Given the description of an element on the screen output the (x, y) to click on. 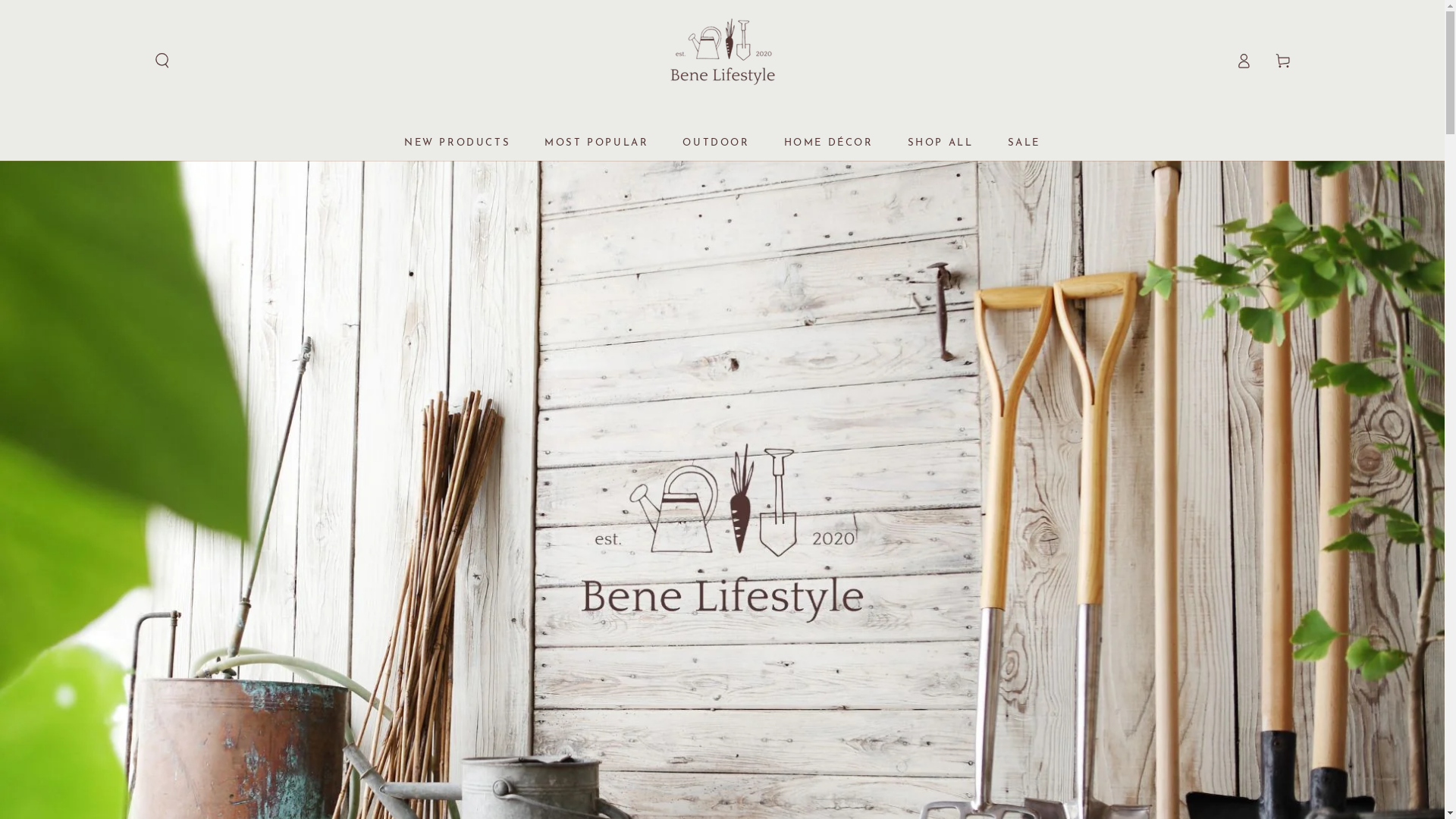
MOST POPULAR Element type: text (596, 142)
NEW PRODUCTS Element type: text (456, 142)
SALE Element type: text (1023, 142)
OUTDOOR Element type: text (715, 142)
SHOP ALL Element type: text (940, 142)
Log in Element type: text (1243, 60)
